Given the description of an element on the screen output the (x, y) to click on. 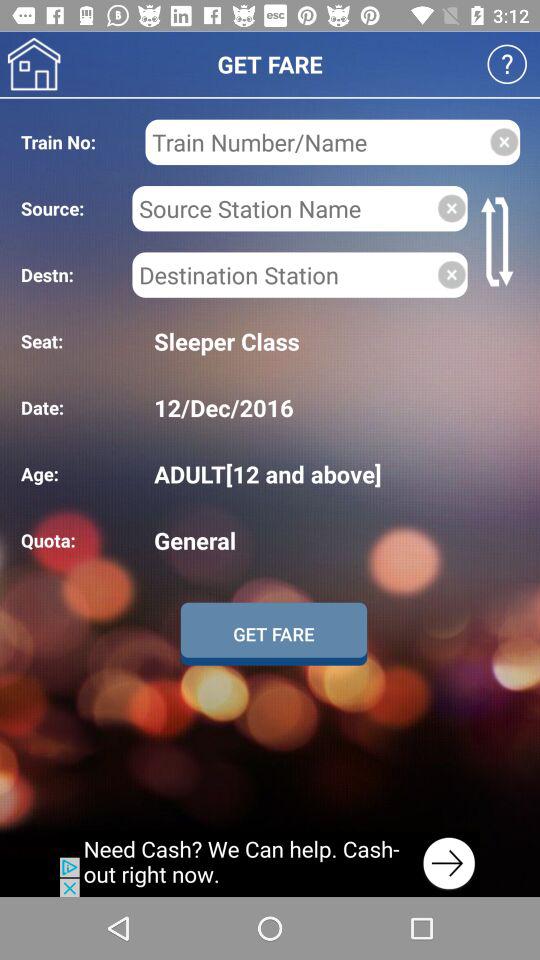
help icon (506, 64)
